Given the description of an element on the screen output the (x, y) to click on. 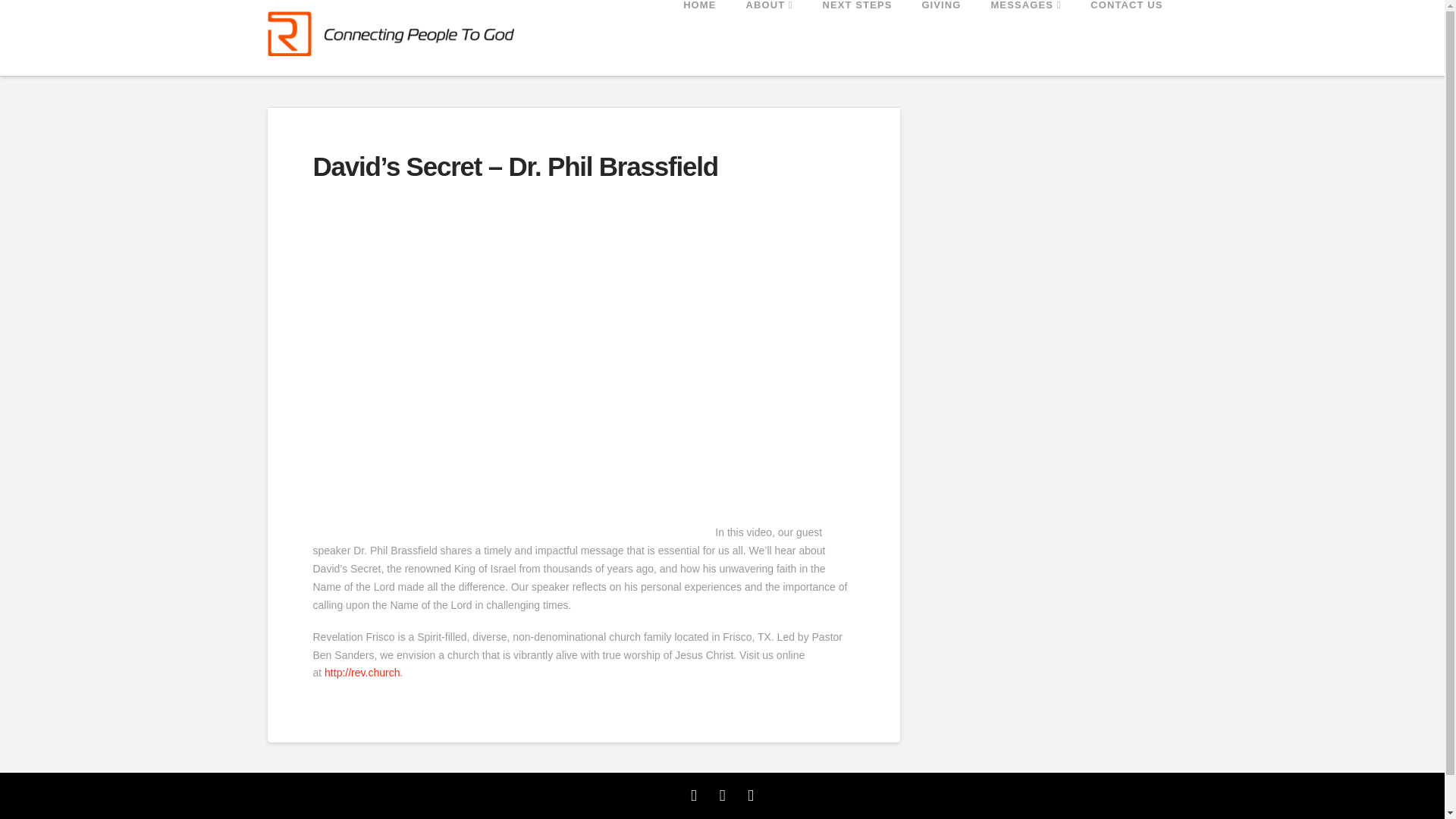
GIVING (940, 38)
MESSAGES (1025, 38)
ABOUT (768, 38)
CONTACT US (1125, 38)
NEXT STEPS (857, 38)
